Given the description of an element on the screen output the (x, y) to click on. 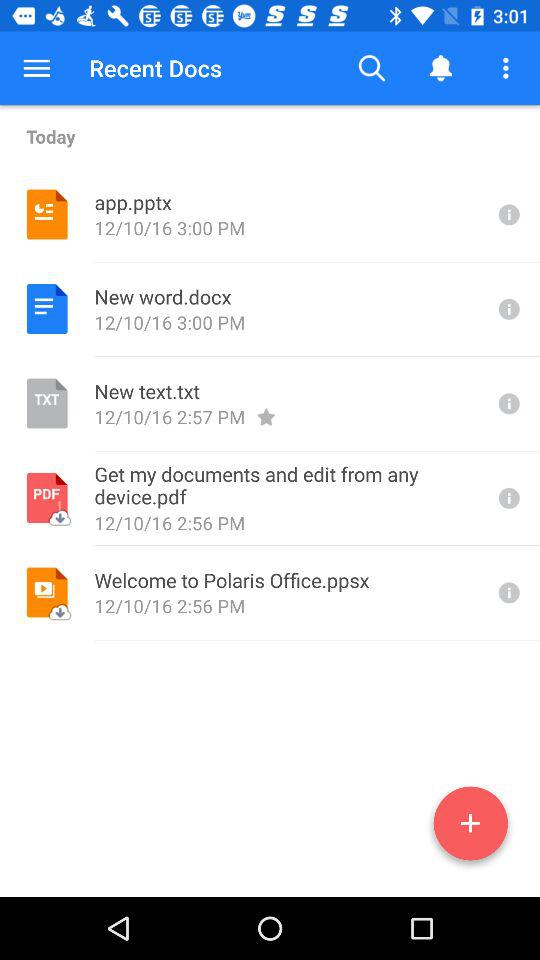
tap icon to the left of the recent docs button (36, 68)
